Given the description of an element on the screen output the (x, y) to click on. 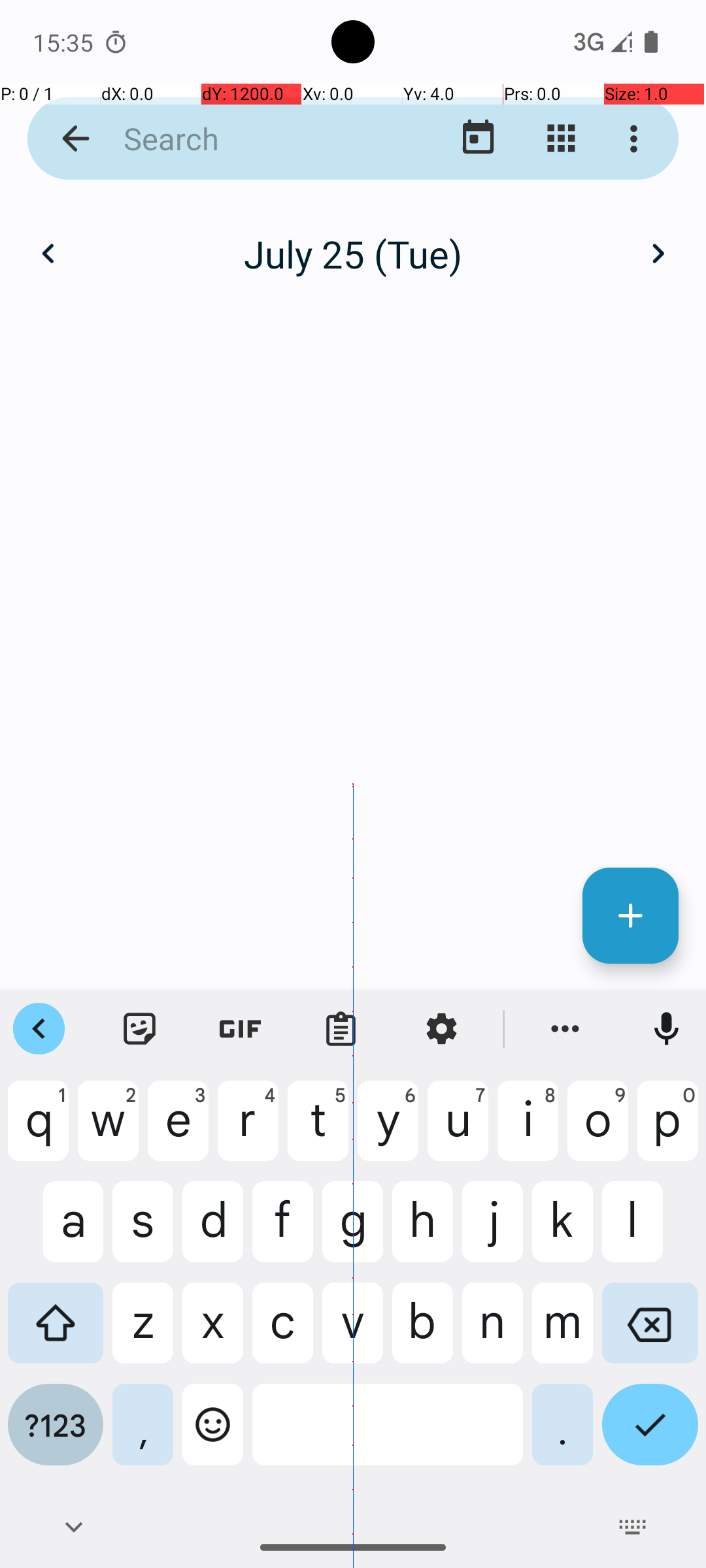
July 25 (Tue) Element type: android.widget.TextView (352, 253)
July Element type: android.widget.TextView (352, 239)
